Given the description of an element on the screen output the (x, y) to click on. 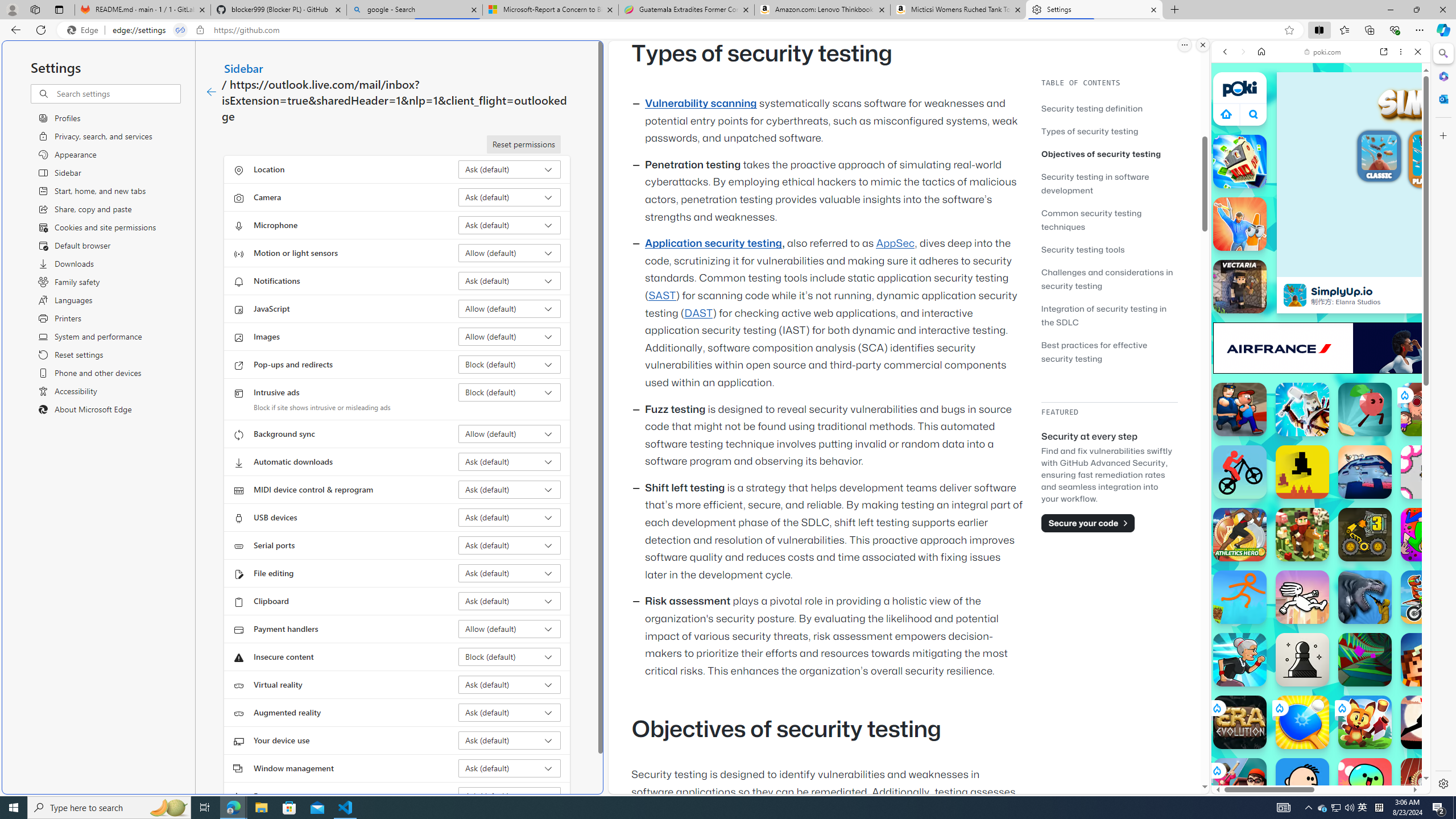
Poor Eddie (1302, 784)
Up Together Up Together (1364, 409)
Level Devil (1302, 471)
The Speed Ninja The Speed Ninja (1427, 722)
Classic Chess (1302, 659)
JollyWorld JollyWorld (1427, 534)
AppSec (895, 243)
Hills of Steel Hills of Steel poki.com (1264, 548)
Sports Games (1320, 378)
Common security testing techniques (1109, 219)
Games for Girls (1320, 406)
